Given the description of an element on the screen output the (x, y) to click on. 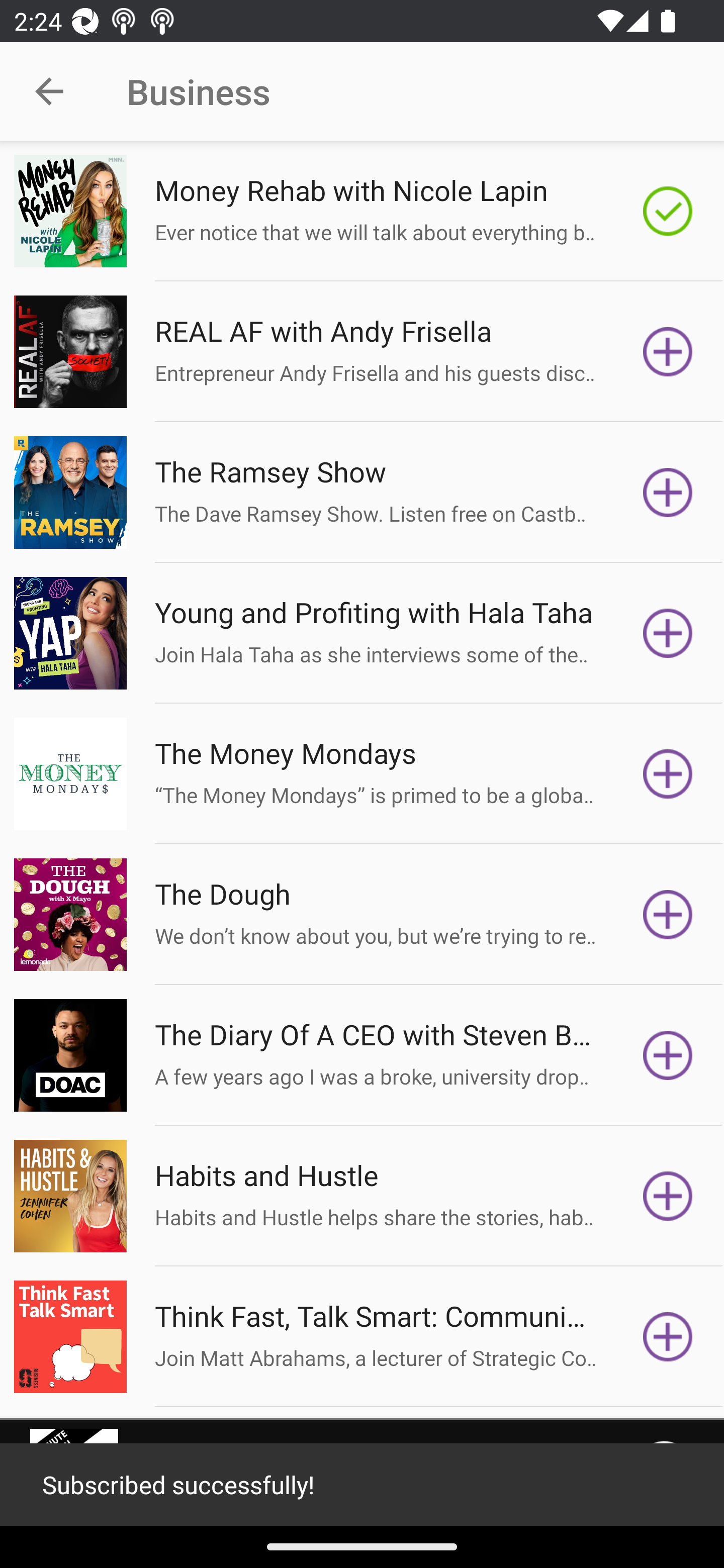
Navigate up (49, 91)
Subscribed (667, 211)
Subscribe (667, 350)
Subscribe (667, 491)
Subscribe (667, 633)
Subscribe (667, 773)
Subscribe (667, 913)
Subscribe (667, 1054)
Subscribe (667, 1195)
Subscribe (667, 1336)
Subscribed successfully! (362, 1484)
